Given the description of an element on the screen output the (x, y) to click on. 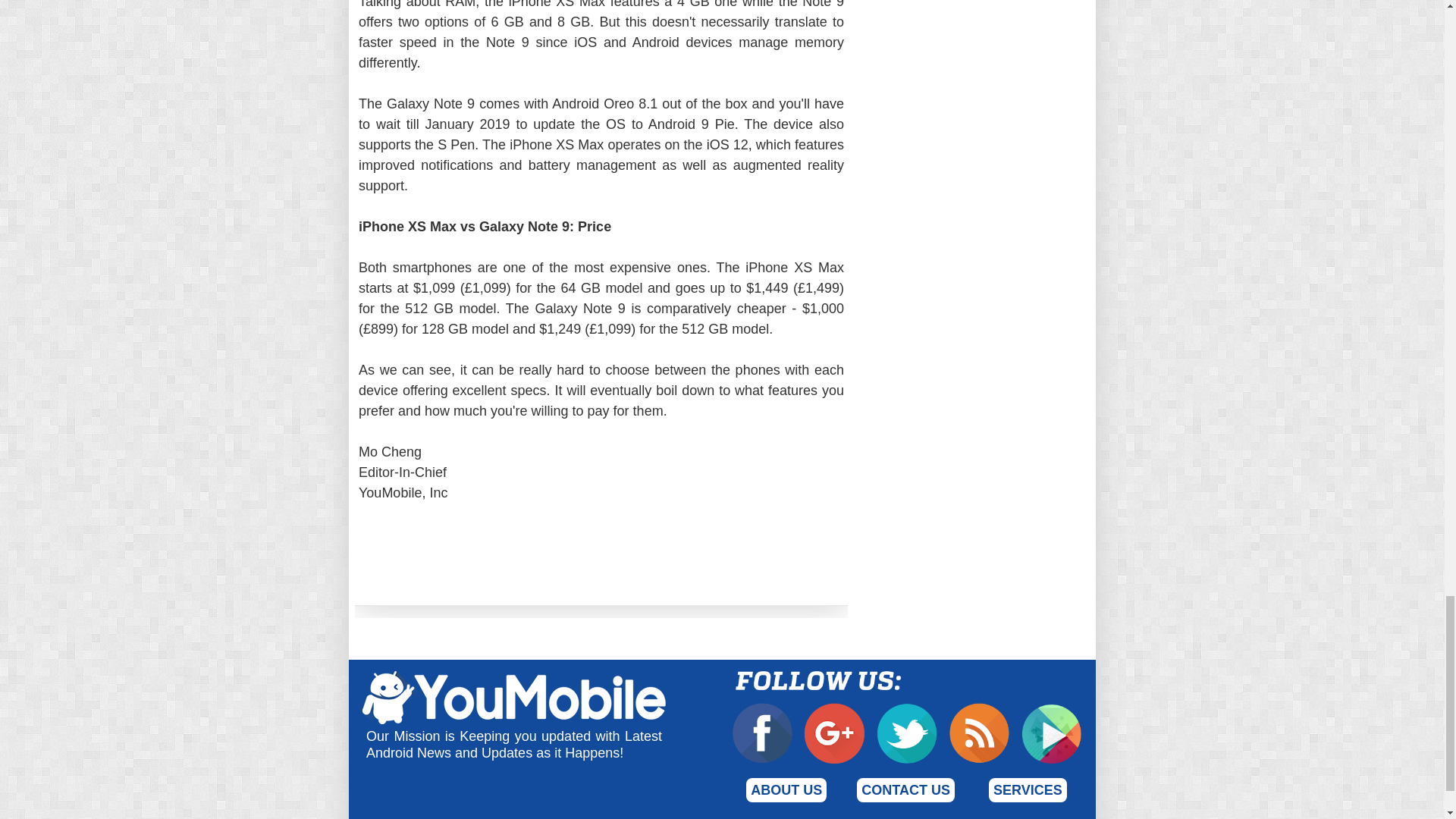
Share This Article on Twitter (759, 556)
Share This Article on Facebook (438, 556)
